Given the description of an element on the screen output the (x, y) to click on. 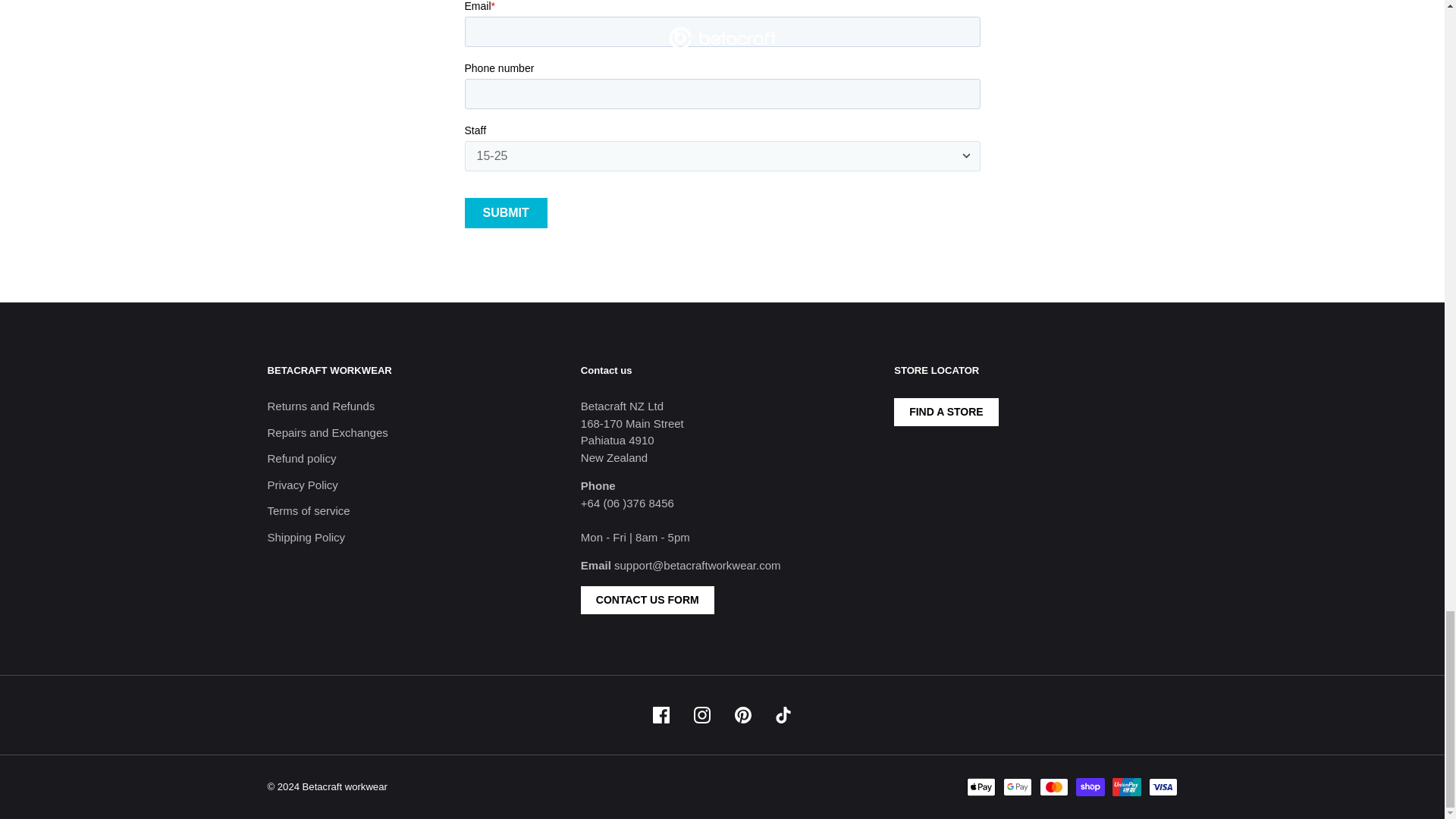
CONTACT (647, 600)
Store Locator - betacraftworkwear (945, 411)
Submit (505, 213)
